Given the description of an element on the screen output the (x, y) to click on. 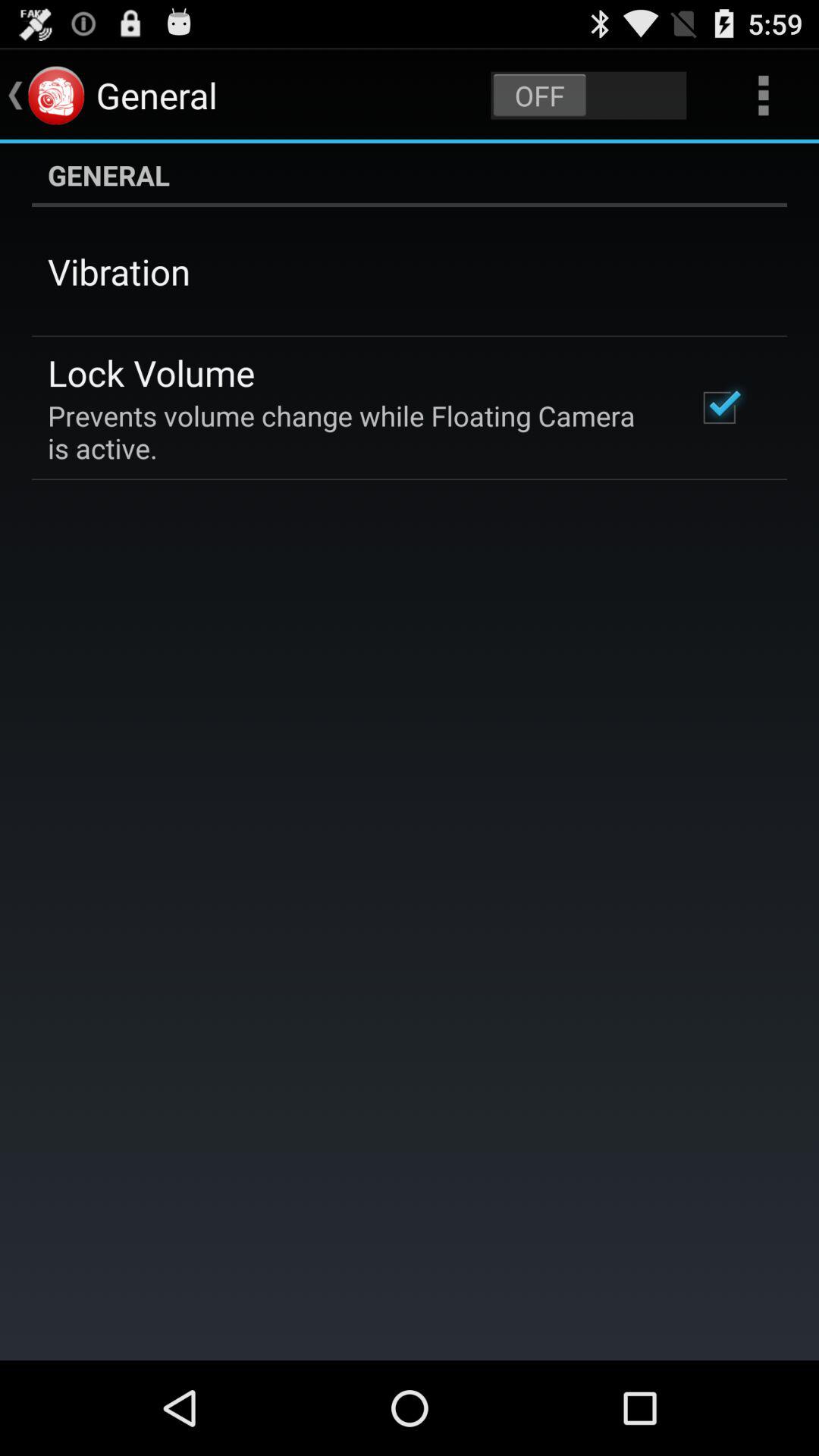
turn off (588, 95)
